Given the description of an element on the screen output the (x, y) to click on. 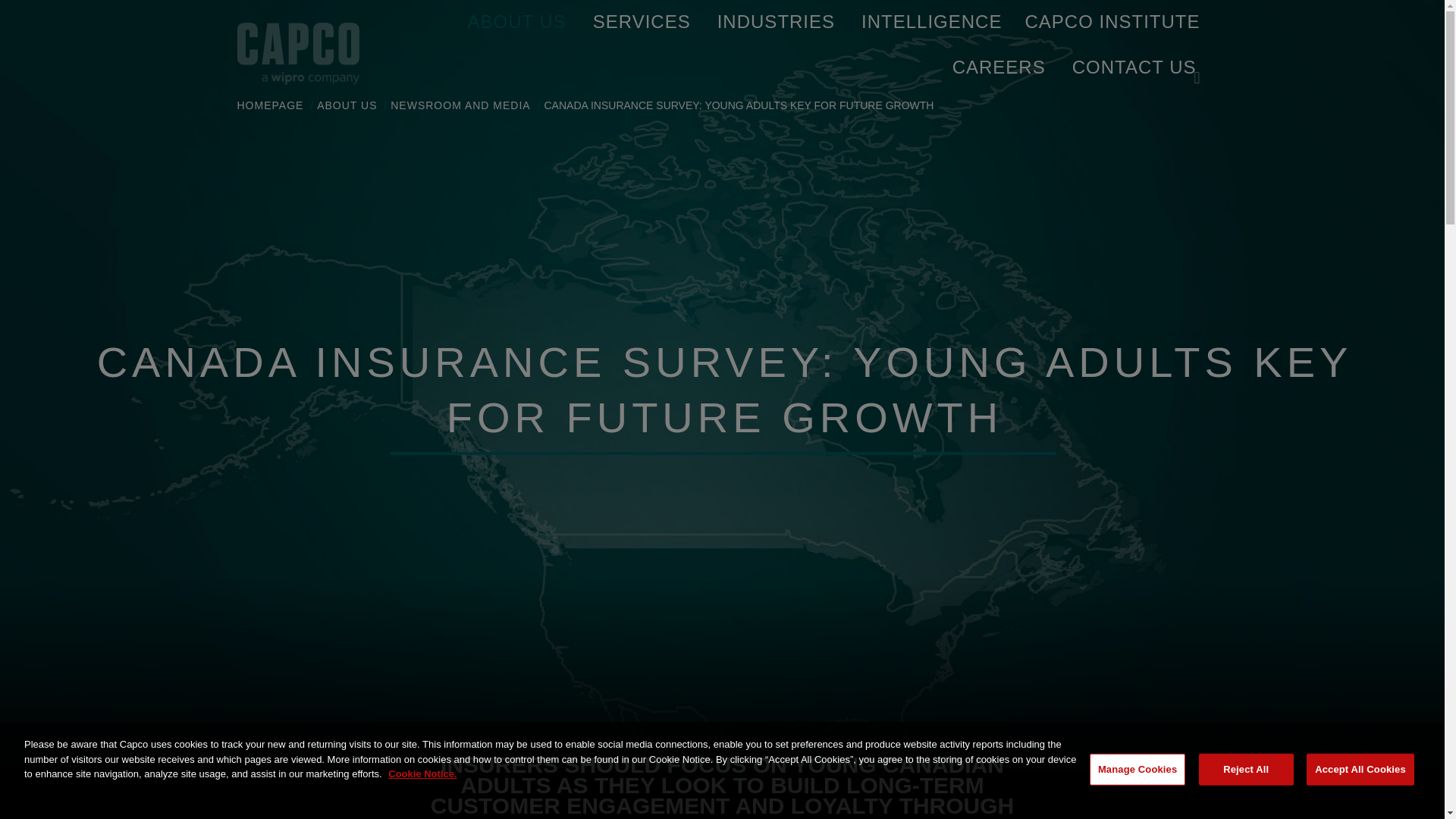
CAPCO INSTITUTE (1111, 22)
INTELLIGENCE (931, 22)
ABOUT US (515, 22)
CAREERS (998, 67)
INDUSTRIES (775, 22)
SERVICES (640, 22)
